Given the description of an element on the screen output the (x, y) to click on. 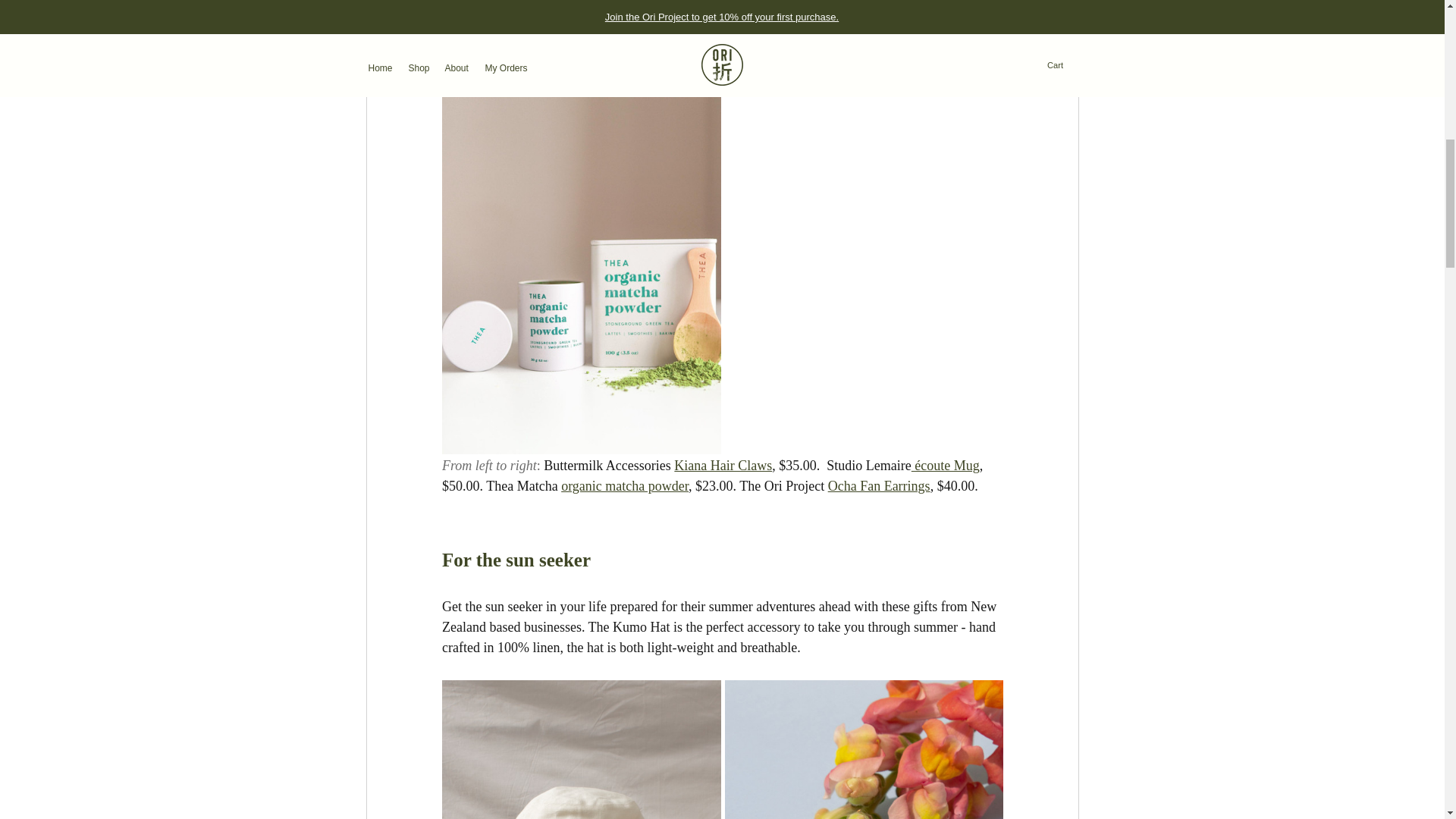
organic matcha powder (624, 485)
Kiana Hair Claws (722, 465)
Ocha Fan Earrings (878, 485)
